Given the description of an element on the screen output the (x, y) to click on. 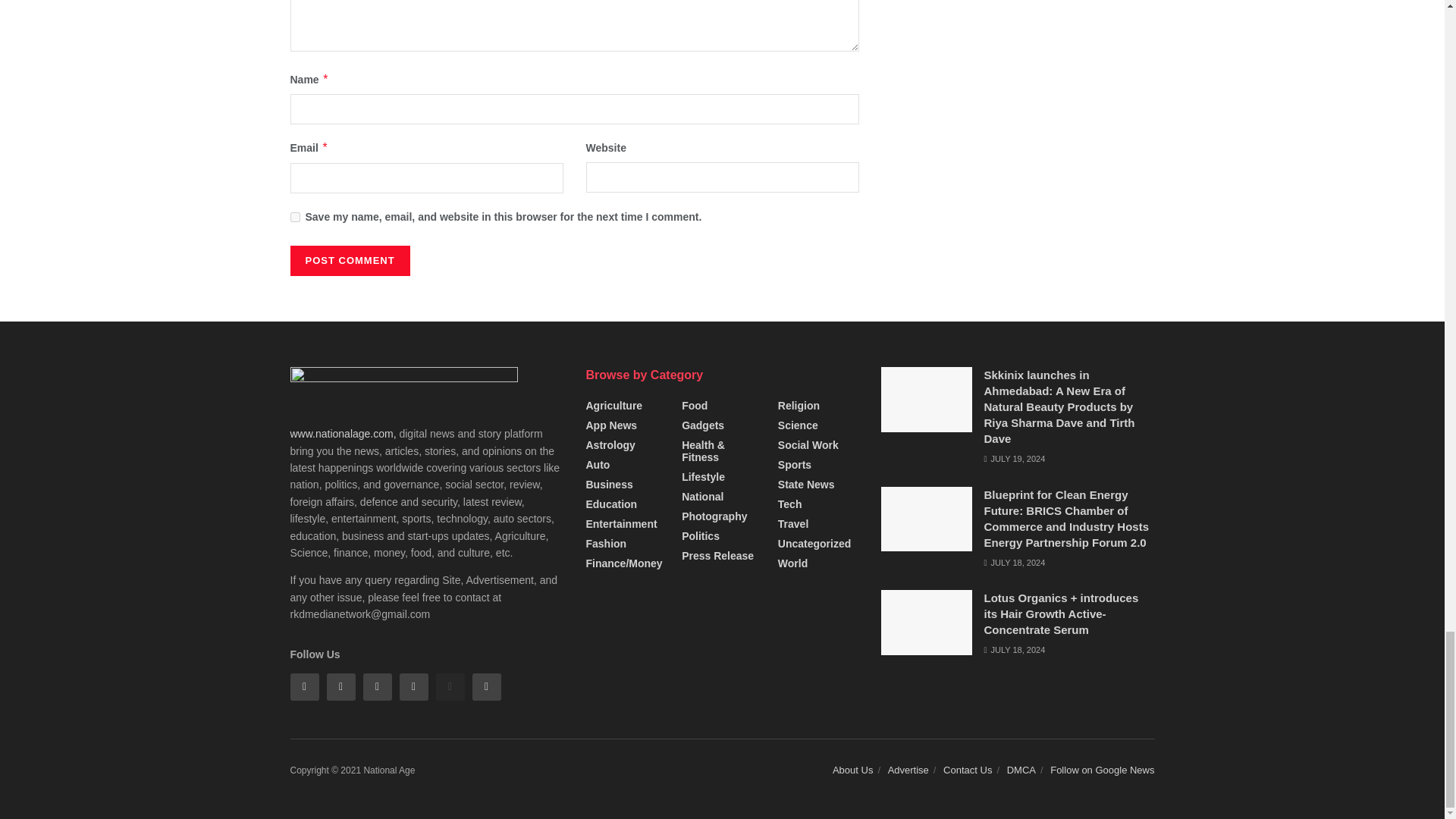
Post Comment (349, 260)
yes (294, 216)
